Given the description of an element on the screen output the (x, y) to click on. 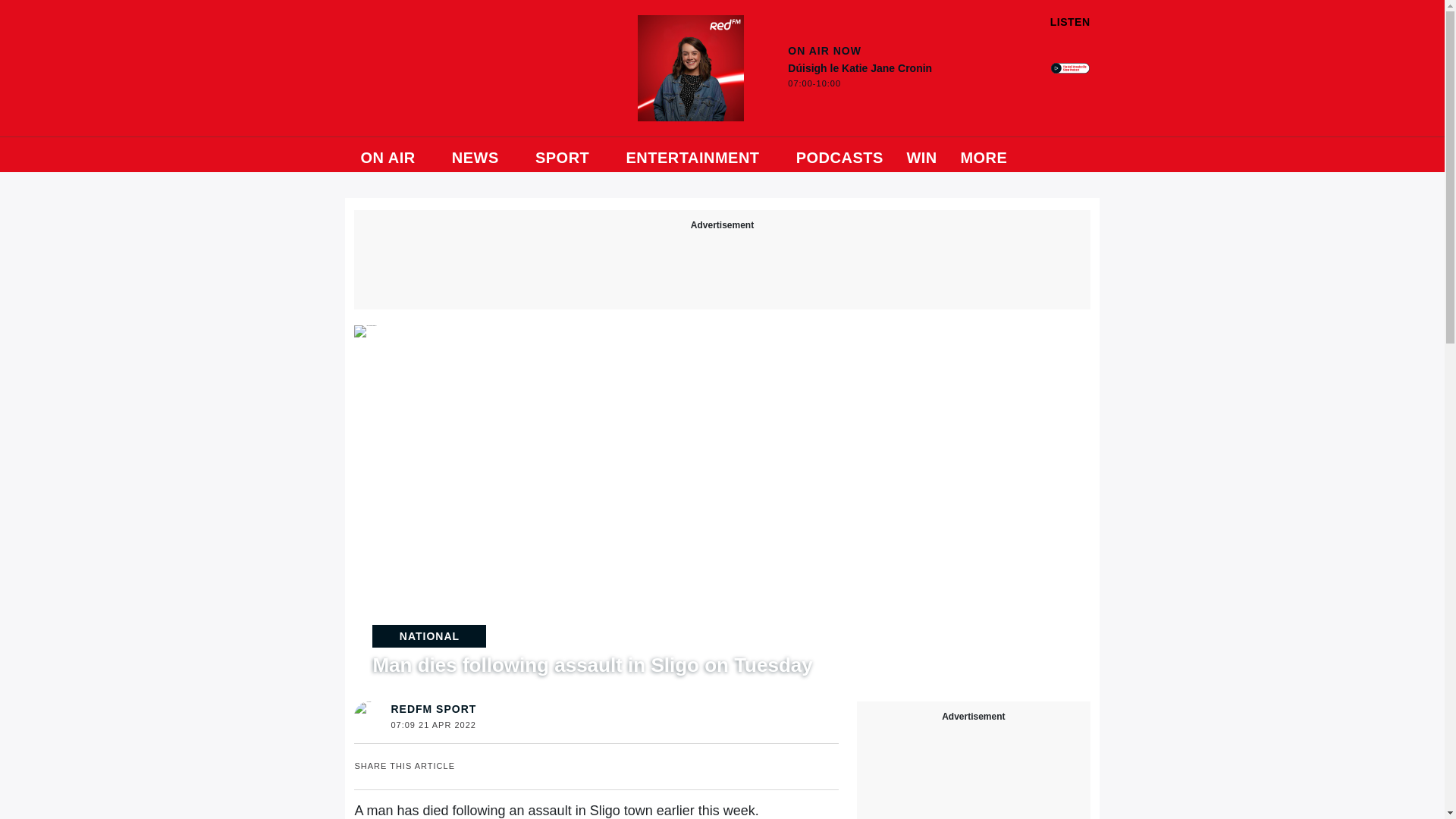
ENTERTAINMENT (699, 154)
PODCASTS (839, 154)
ON AIR (393, 154)
Win (920, 154)
Podcasts (839, 154)
SPORT (568, 154)
MORE (989, 154)
NEWS (481, 154)
WIN (920, 154)
